Given the description of an element on the screen output the (x, y) to click on. 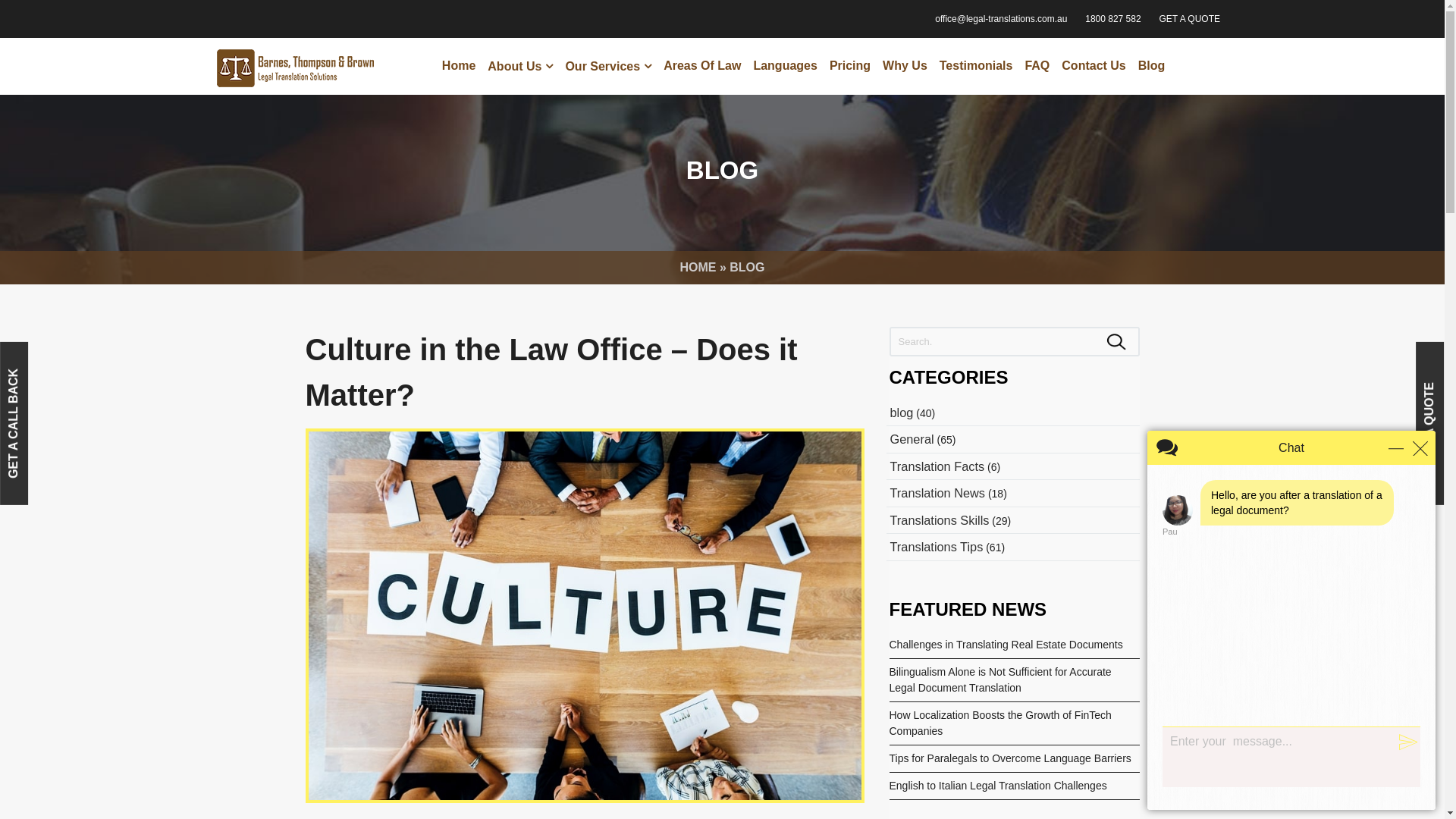
blog Element type: text (901, 412)
Testimonials Element type: text (976, 65)
Home Element type: text (458, 65)
General Element type: text (912, 438)
Our Services Element type: text (607, 65)
About Us Element type: text (519, 65)
office@legal-translations.com.au Element type: text (1000, 18)
Blog Element type: text (1151, 65)
Pricing Element type: text (849, 65)
Languages Element type: text (784, 65)
Translation News Element type: text (937, 492)
Contact Us Element type: text (1093, 65)
English to Italian Legal Translation Challenges Element type: text (997, 785)
Areas Of Law Element type: text (701, 65)
GET A CALL BACK Element type: text (81, 356)
1800 827 582 Element type: text (1112, 18)
HOME Element type: text (697, 266)
Translations Tips Element type: text (936, 546)
FAQ Element type: text (1036, 65)
Challenges in Translating Real Estate Documents Element type: text (1005, 644)
Law office culture Element type: hover (583, 615)
Translation Facts Element type: text (937, 466)
BLOG Element type: text (746, 266)
How Localization Boosts the Growth of FinTech Companies Element type: text (999, 723)
Tips for Paralegals to Overcome Language Barriers Element type: text (1009, 758)
Why Us Element type: text (904, 65)
Translations Skills Element type: text (939, 520)
GET A QUOTE Element type: text (1189, 18)
